Given the description of an element on the screen output the (x, y) to click on. 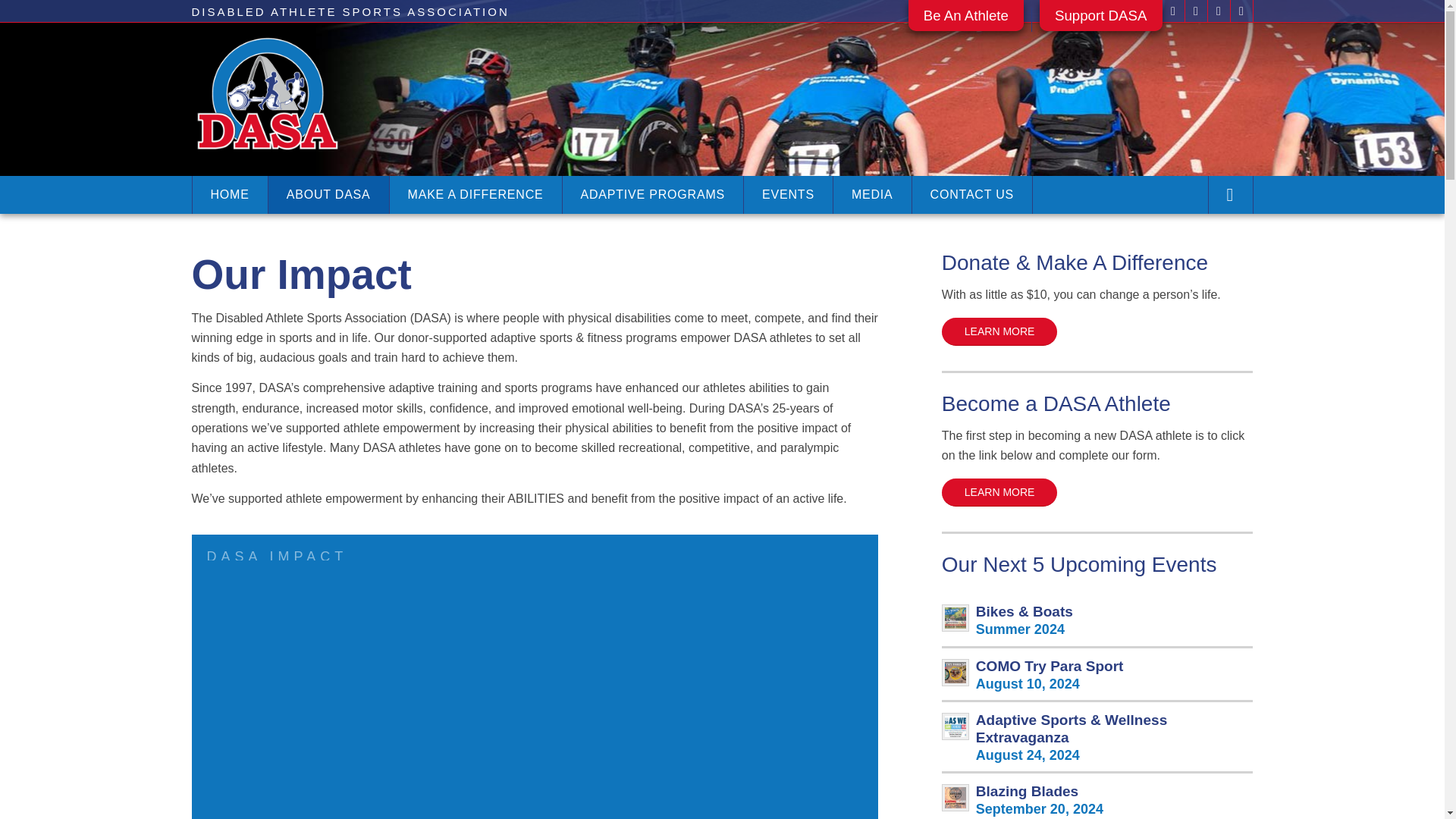
ABOUT DASA (327, 194)
ADAPTIVE PROGRAMS (653, 194)
Instagram (1217, 11)
Youtube (1241, 11)
Facebook (1172, 11)
MAKE A DIFFERENCE (475, 194)
Be An Athlete (965, 21)
Support DASA (1100, 21)
Twitter (1196, 11)
HOME (228, 194)
